Given the description of an element on the screen output the (x, y) to click on. 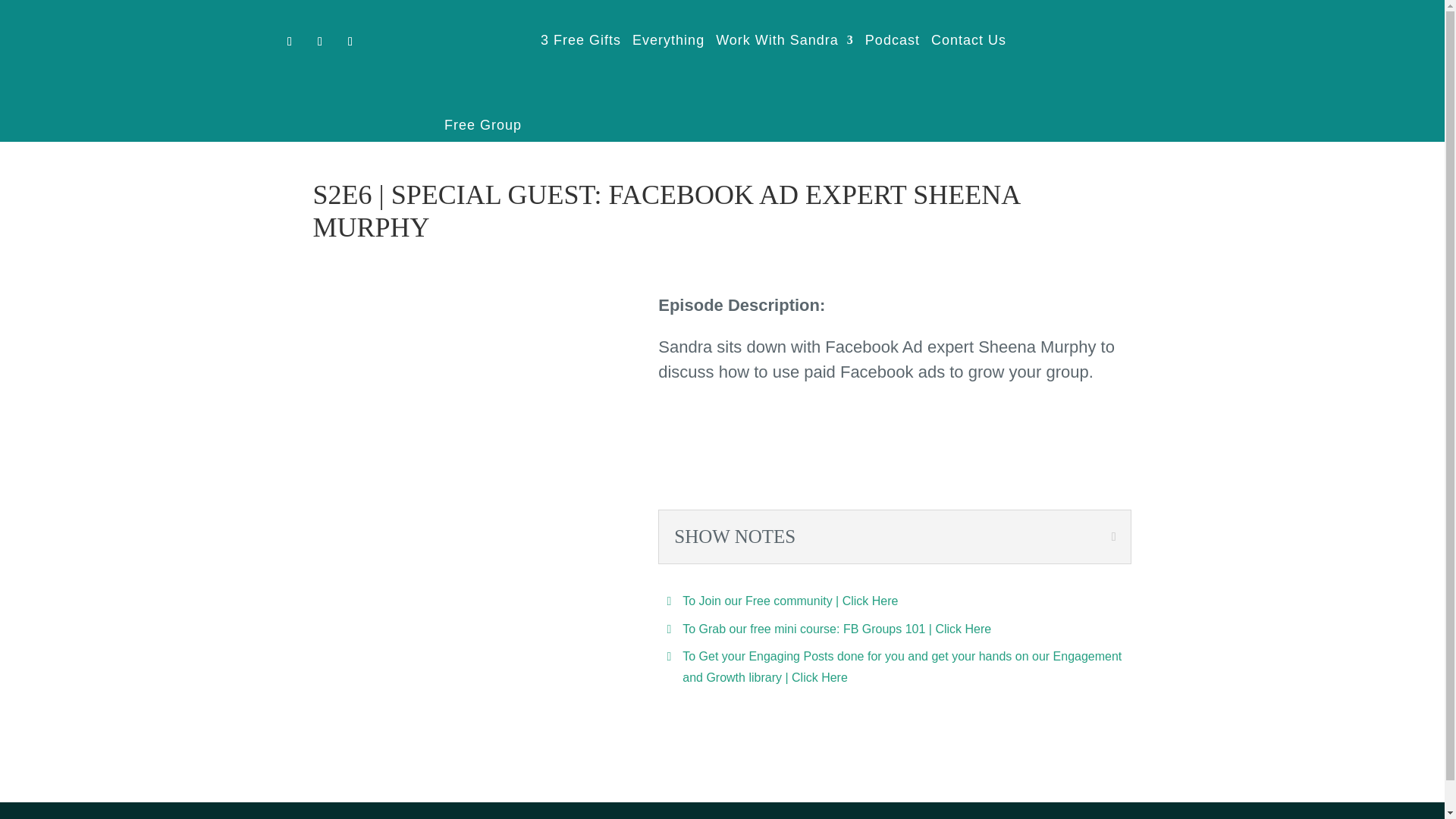
Work With Sandra (784, 85)
Follow on Homes (349, 41)
Follow on  (319, 41)
MLC Podcast (462, 442)
Follow on Facebook (289, 41)
